Given the description of an element on the screen output the (x, y) to click on. 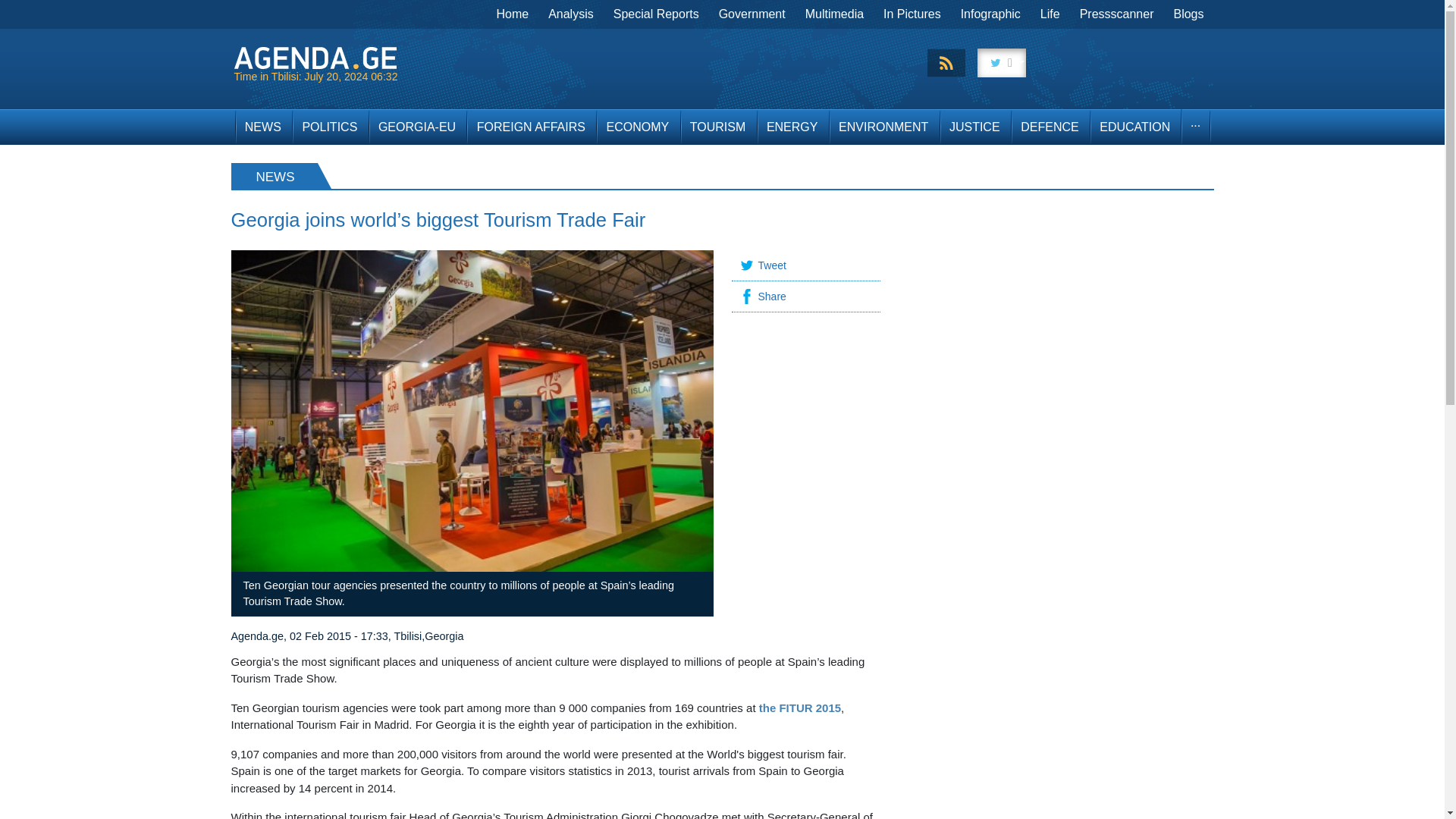
In Pictures (911, 14)
NEWS (262, 126)
Special Reports (656, 14)
Analysis (571, 14)
Life (1050, 14)
Government (751, 14)
Home (512, 14)
Multimedia (833, 14)
Infographic (990, 14)
Blogs (1187, 14)
Pressscanner (1116, 14)
